Given the description of an element on the screen output the (x, y) to click on. 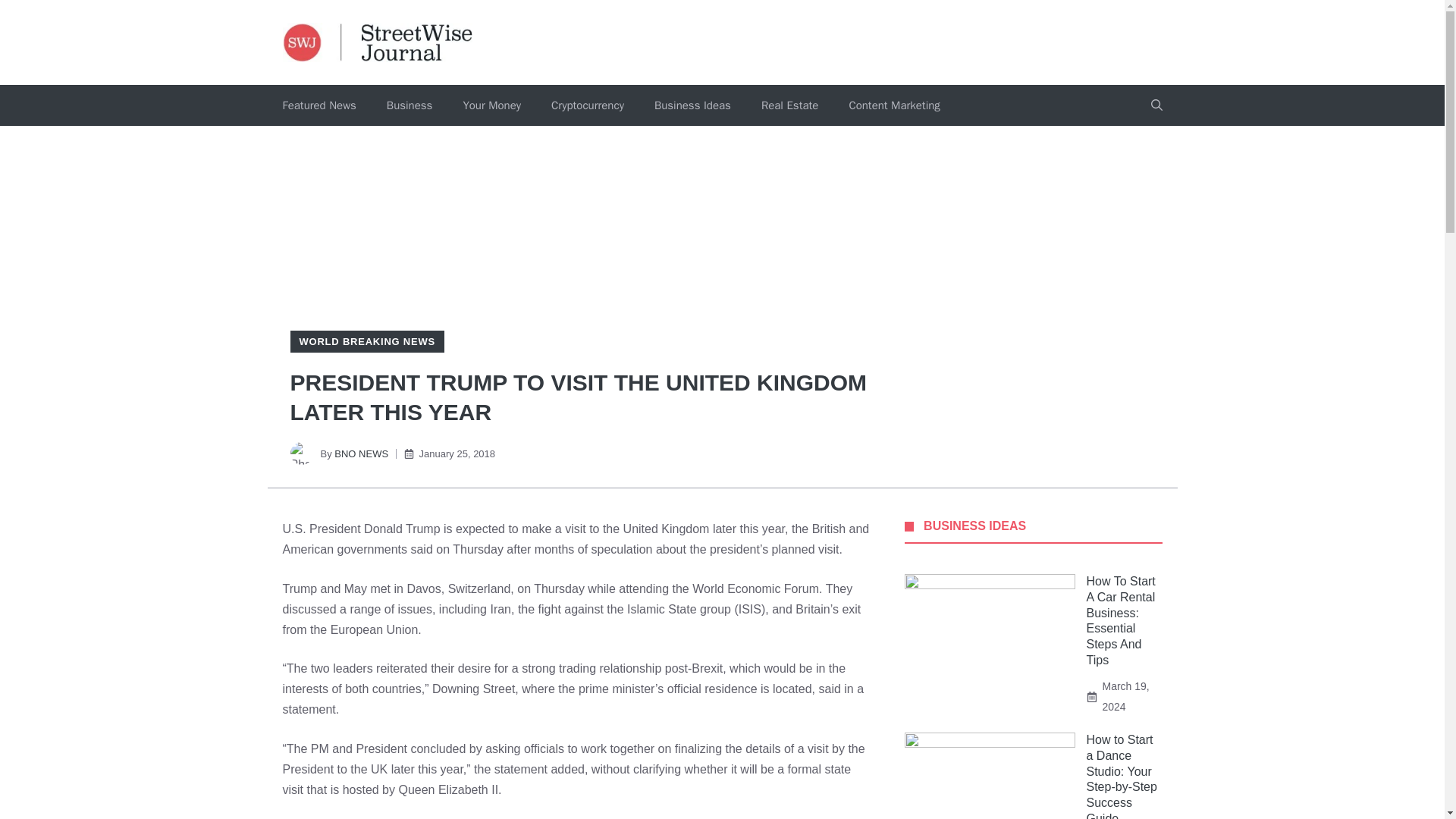
Your Money (490, 105)
Content Marketing (893, 105)
Business Ideas (692, 105)
WORLD BREAKING NEWS (365, 341)
Business (409, 105)
Real Estate (788, 105)
BNO NEWS (361, 453)
Cryptocurrency (587, 105)
Featured News (318, 105)
